Given the description of an element on the screen output the (x, y) to click on. 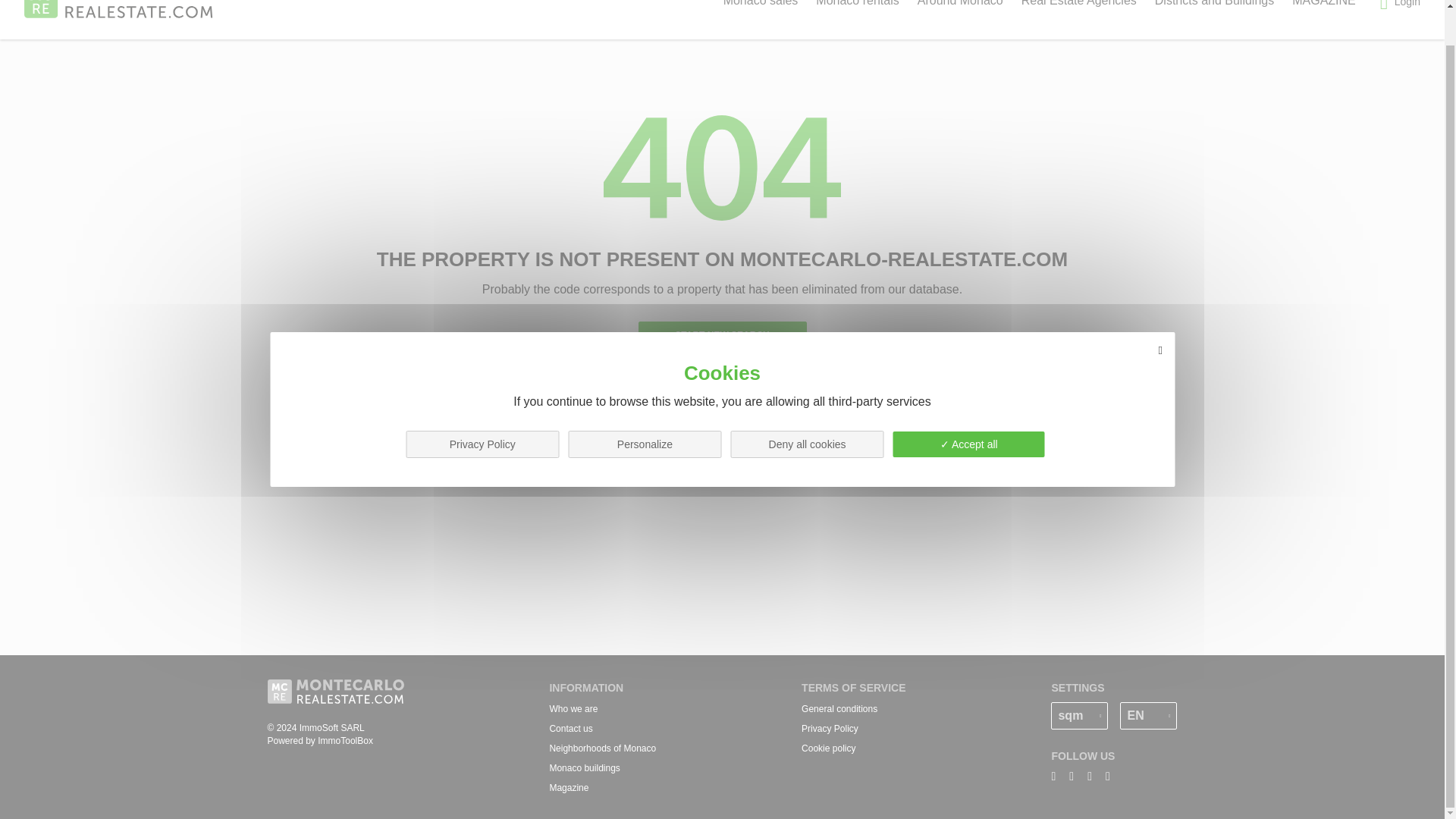
MAGAZINE (1323, 5)
MonteCarlo (119, 9)
Login (1400, 6)
Monaco buildings (584, 767)
Privacy Policy (830, 728)
General conditions (839, 708)
Neighborhoods of Monaco (602, 747)
Monaco sales (760, 5)
Who we are (572, 708)
Real Estate Agencies (1079, 5)
